Given the description of an element on the screen output the (x, y) to click on. 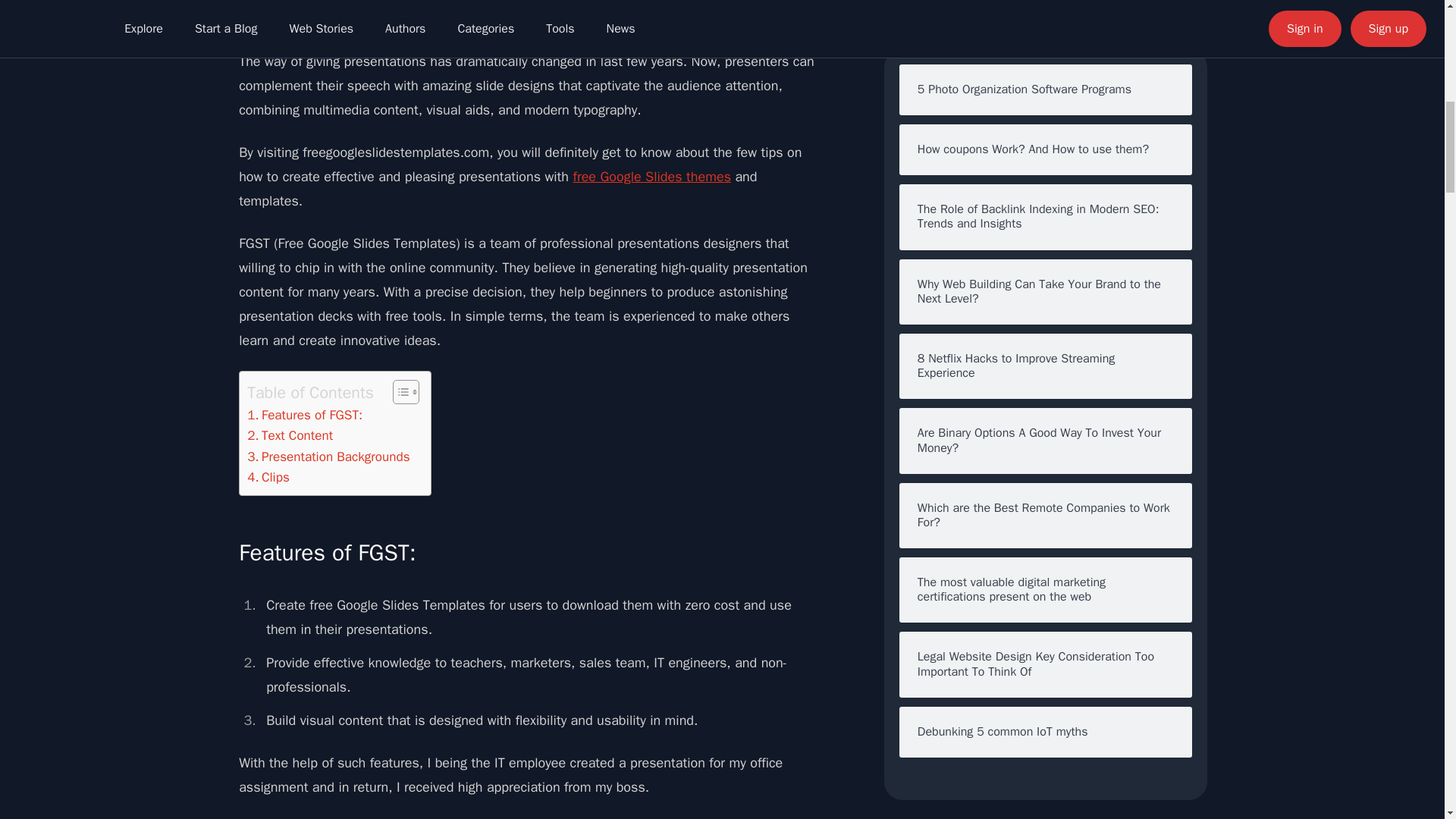
Clips (268, 476)
Presentation Backgrounds (328, 455)
Text Content (290, 435)
Features of FGST: (304, 414)
Presentation Backgrounds (328, 455)
Text Content (290, 435)
free Google Slides themes (651, 176)
Features of FGST: (304, 414)
Clips (268, 476)
